Given the description of an element on the screen output the (x, y) to click on. 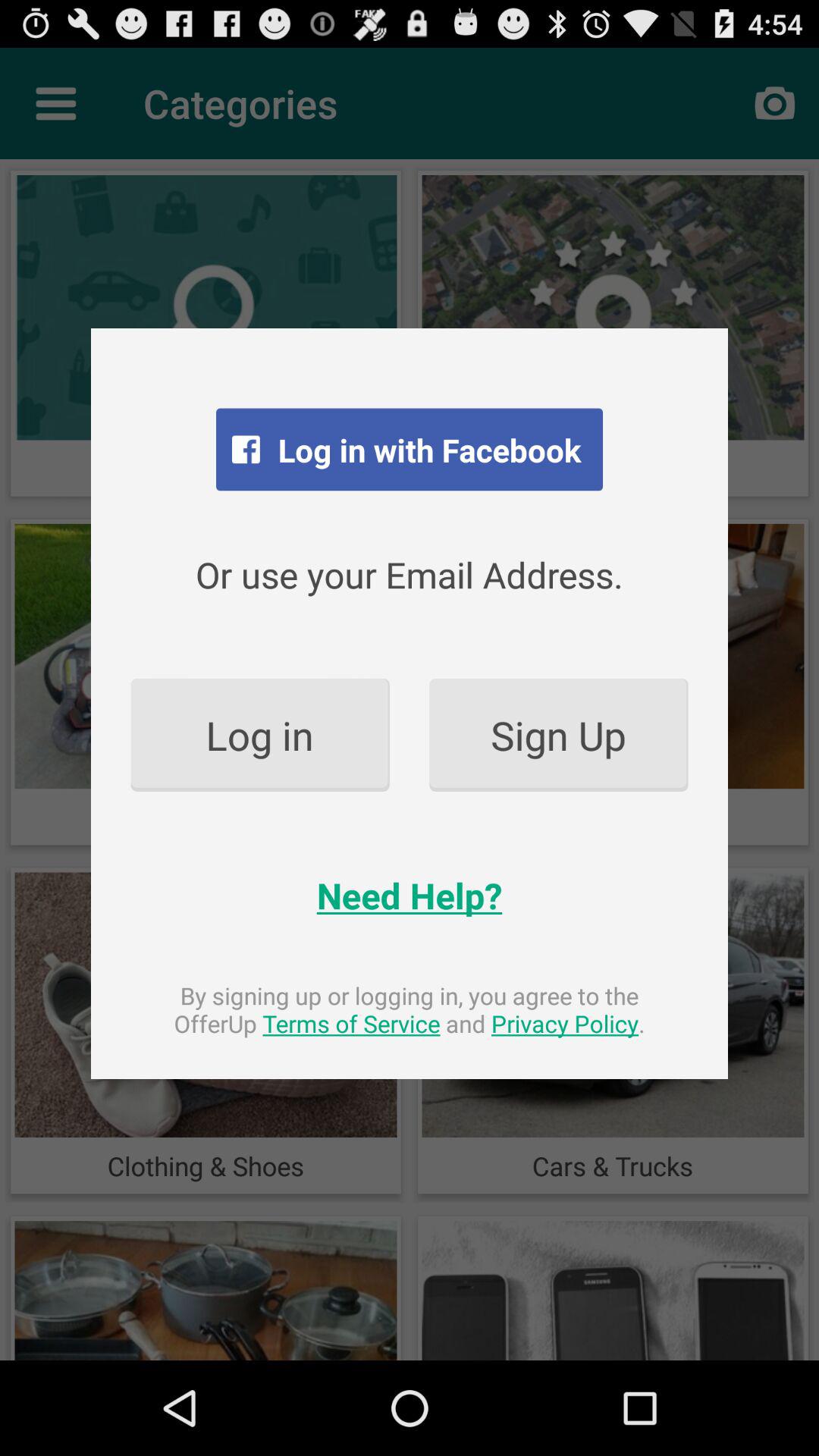
scroll to the by signing up item (409, 1009)
